Given the description of an element on the screen output the (x, y) to click on. 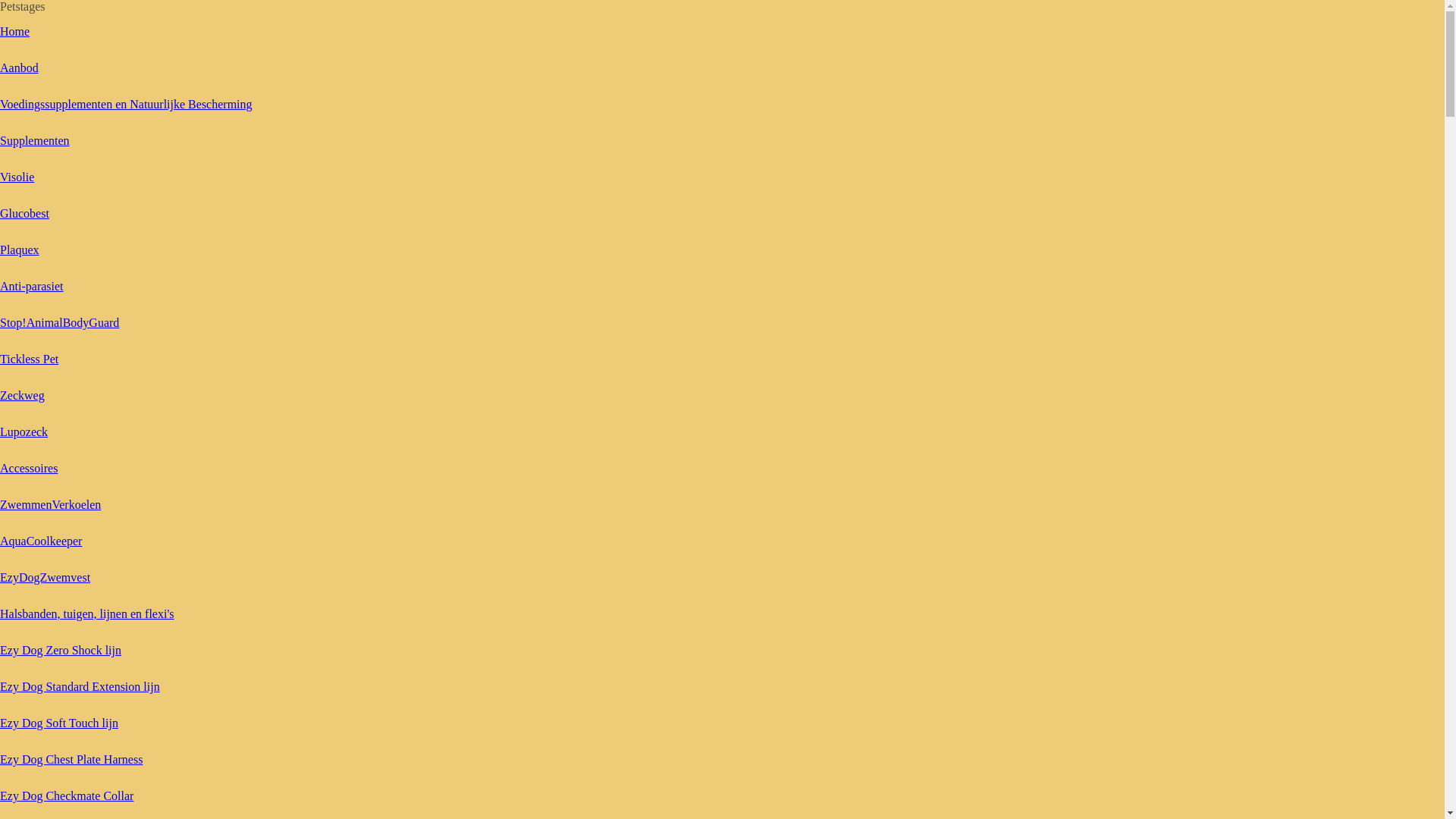
Ezy Dog Chest Plate Harness Element type: text (71, 759)
Supplementen Element type: text (34, 140)
Stop!AnimalBodyGuard Element type: text (59, 322)
ZwemmenVerkoelen Element type: text (50, 504)
AquaCoolkeeper Element type: text (40, 540)
Voedingssupplementen en Natuurlijke Bescherming Element type: text (126, 103)
Ezy Dog Standard Extension lijn Element type: text (80, 686)
Halsbanden, tuigen, lijnen en flexi's Element type: text (87, 613)
Home Element type: text (14, 31)
Anti-parasiet Element type: text (31, 285)
Glucobest Element type: text (24, 213)
EzyDogZwemvest Element type: text (45, 577)
Visolie Element type: text (17, 176)
Ezy Dog Checkmate Collar Element type: text (66, 795)
Plaquex Element type: text (19, 249)
Ezy Dog Soft Touch lijn Element type: text (59, 722)
Lupozeck Element type: text (23, 431)
Tickless Pet Element type: text (29, 358)
Accessoires Element type: text (28, 467)
Aanbod Element type: text (19, 67)
Zeckweg Element type: text (22, 395)
Ezy Dog Zero Shock lijn Element type: text (60, 649)
